Given the description of an element on the screen output the (x, y) to click on. 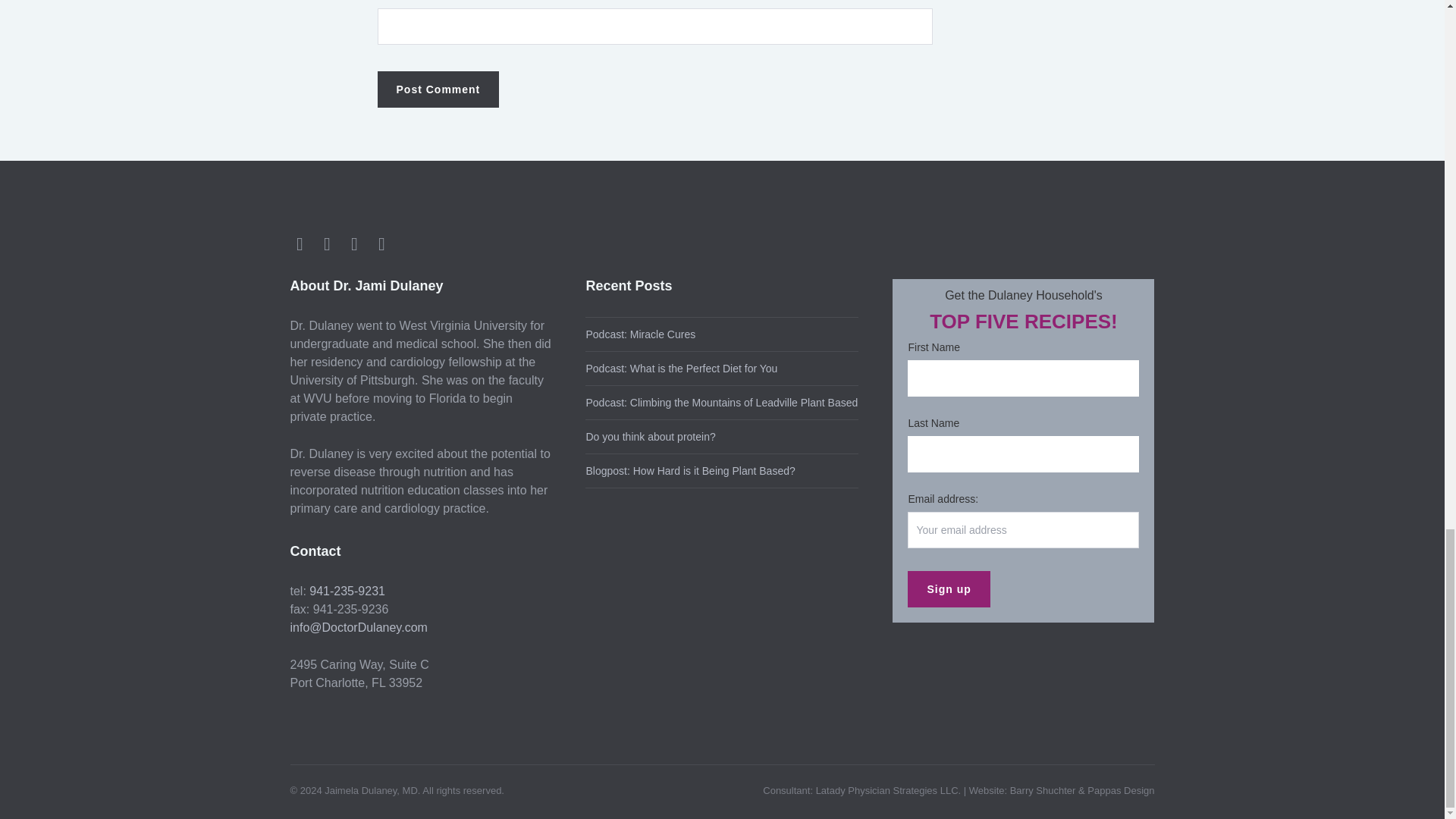
Post Comment (438, 89)
Sign up (948, 588)
Post Comment (438, 89)
